Given the description of an element on the screen output the (x, y) to click on. 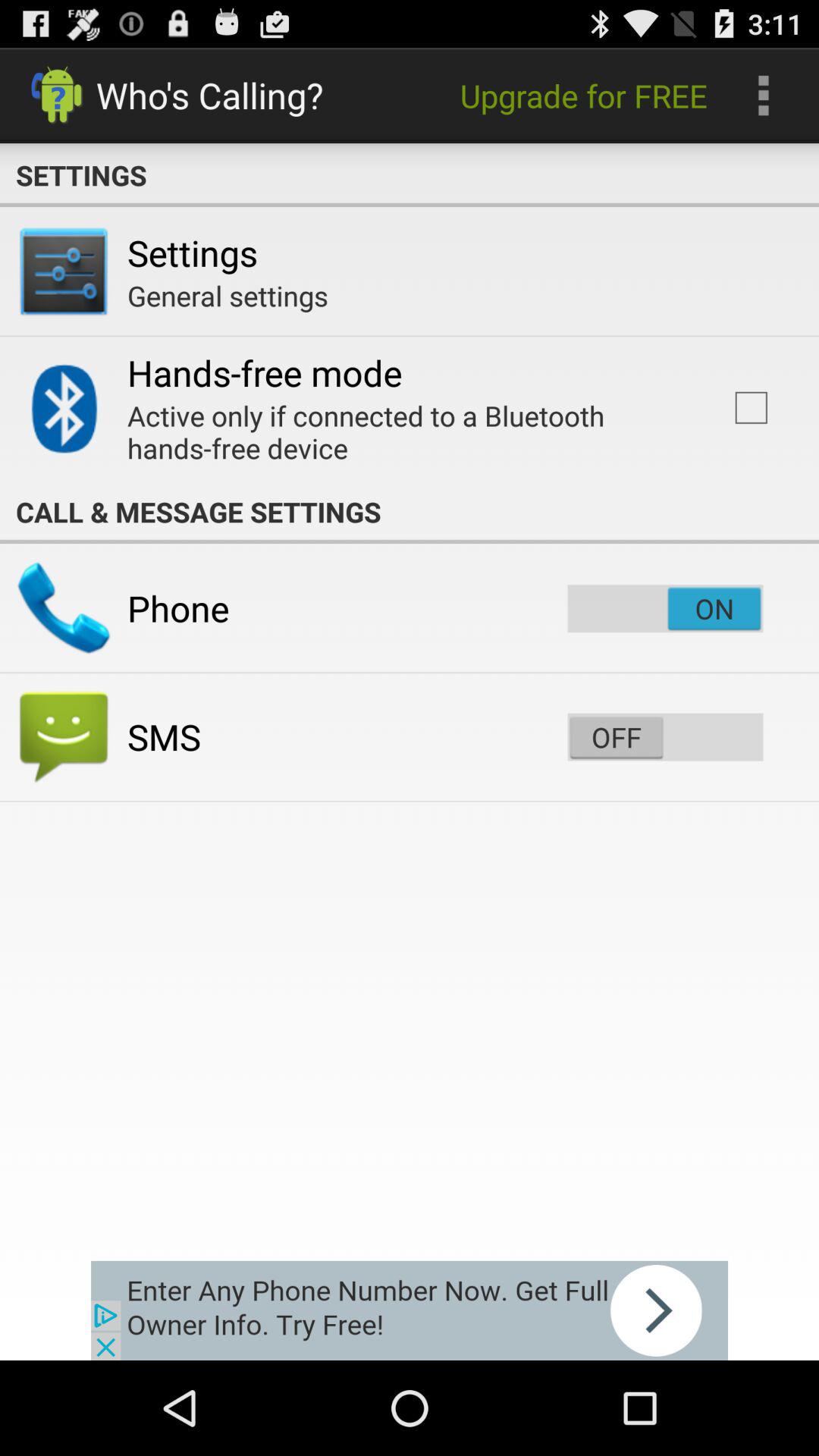
phone call setting on (665, 608)
